Given the description of an element on the screen output the (x, y) to click on. 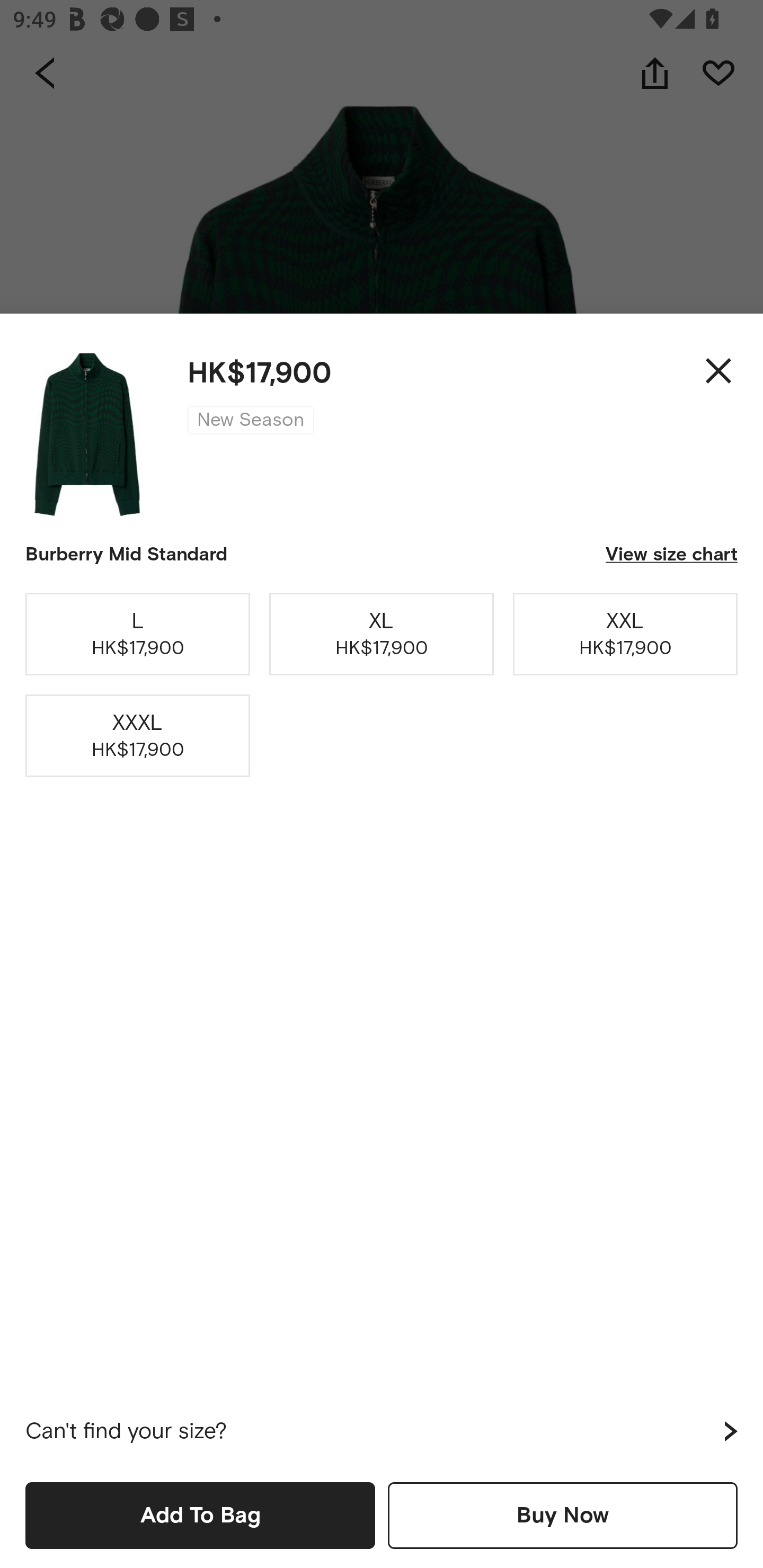
L HK$17,900 (137, 633)
XL HK$17,900 (381, 633)
XXL HK$17,900 (624, 633)
XXXL HK$17,900 (137, 735)
Can't find your size? (381, 1431)
Add To Bag (200, 1515)
Buy Now (562, 1515)
